Given the description of an element on the screen output the (x, y) to click on. 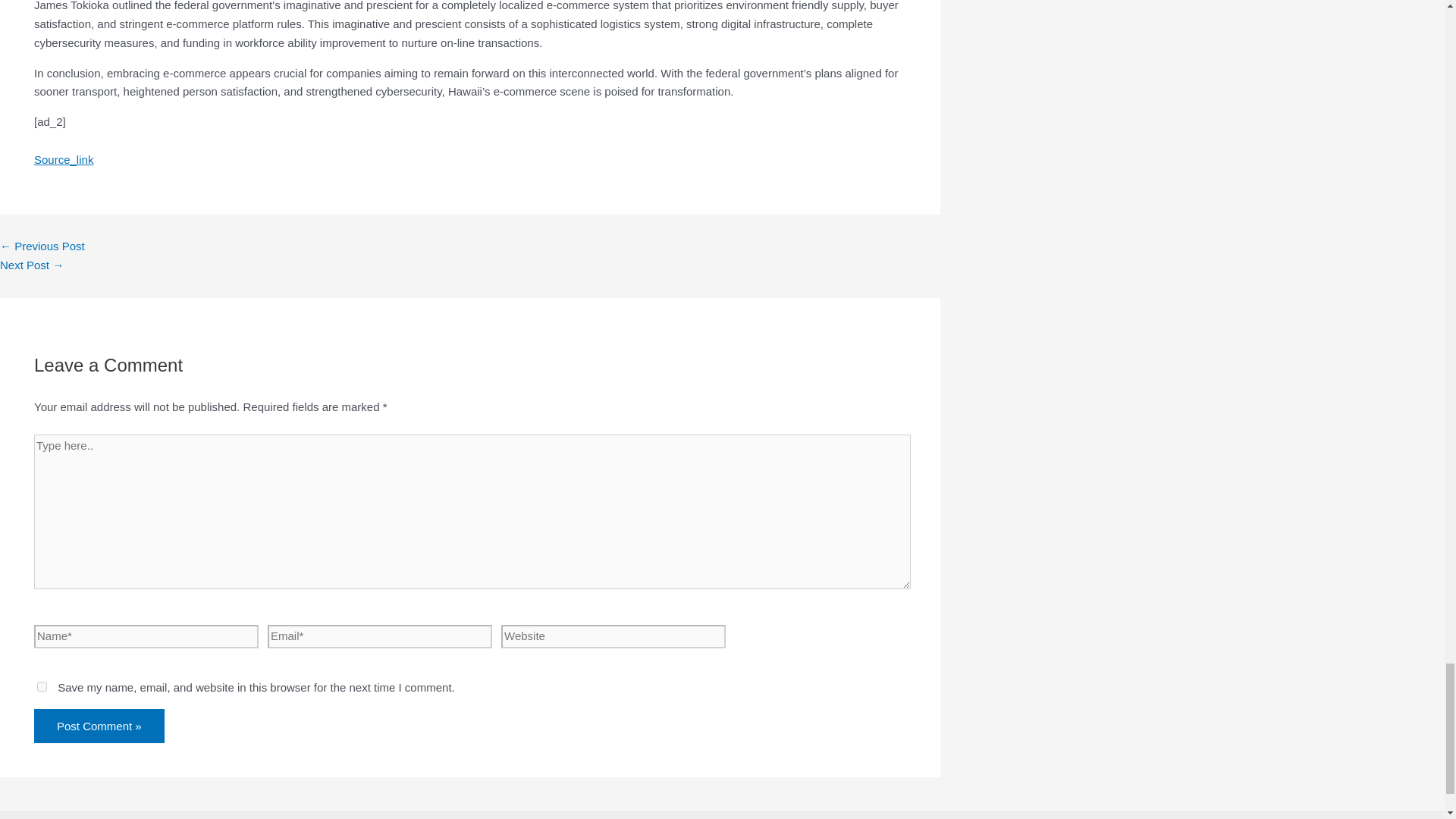
Aged at Danger: Social Safety Insufficiency Sparks Issues (42, 245)
How AI Is Altering Client Engagement (32, 264)
yes (41, 686)
